Given the description of an element on the screen output the (x, y) to click on. 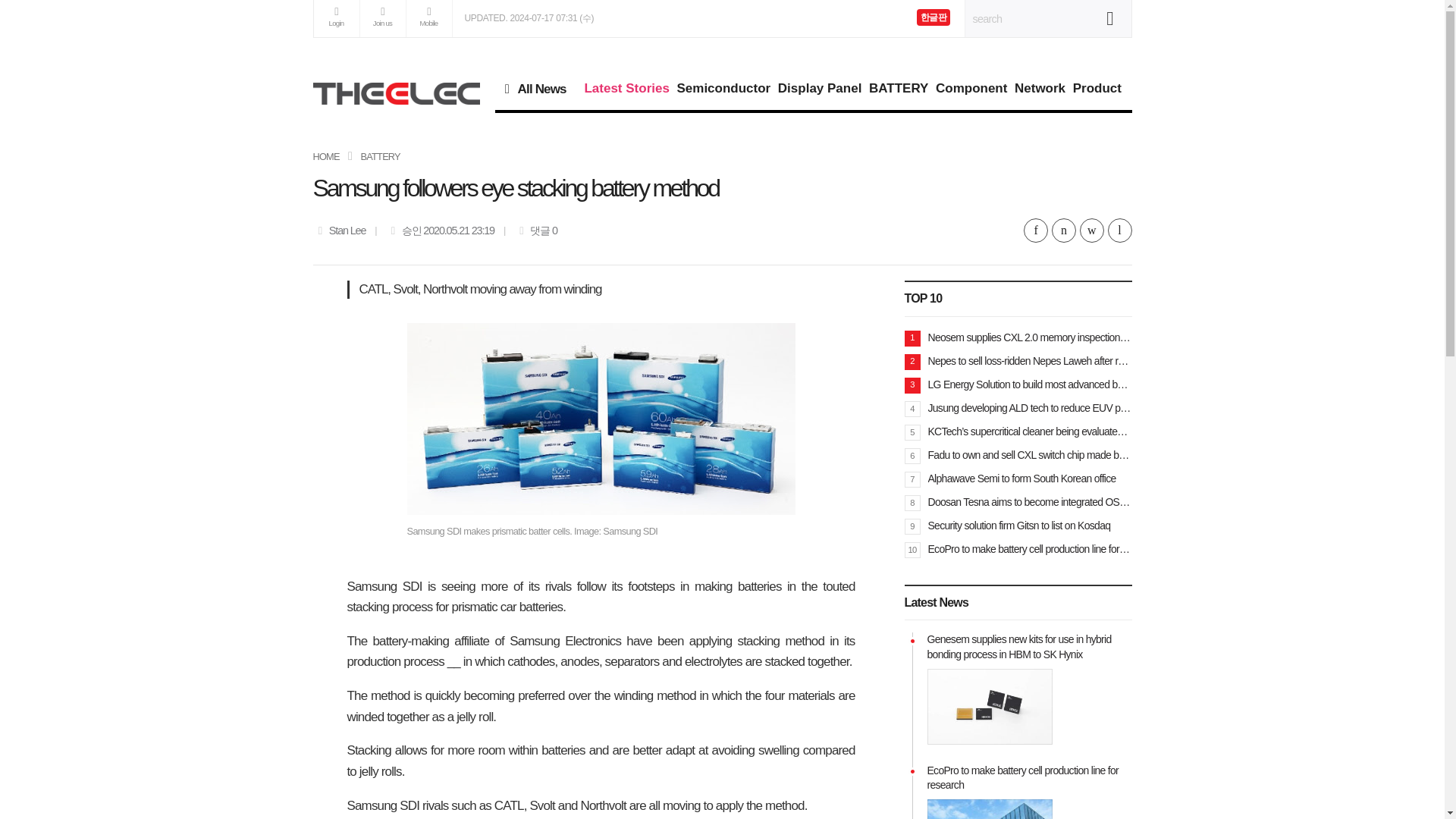
Latest Stories (626, 88)
Display Panel (819, 88)
BATTERY (380, 156)
Join us (381, 18)
Product (1096, 88)
Semiconductor (723, 88)
 All News (539, 88)
Mobile (428, 18)
Login (336, 18)
Network (1039, 88)
Component (970, 88)
BATTERY (897, 88)
HOME (326, 156)
